Given the description of an element on the screen output the (x, y) to click on. 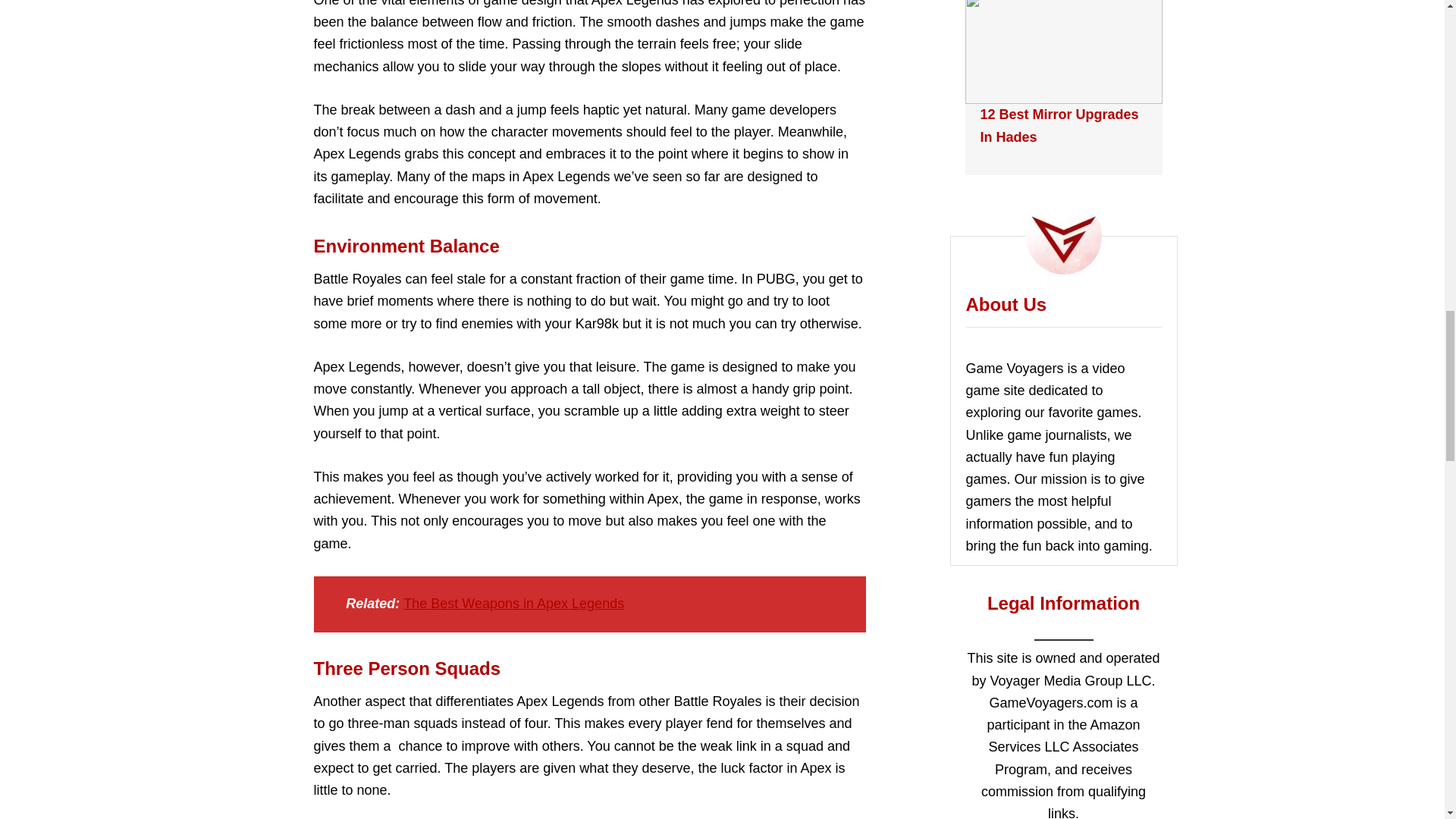
12 Best Mirror Upgrades In Hades (1058, 125)
The Best Weapons in Apex Legends (513, 603)
